Given the description of an element on the screen output the (x, y) to click on. 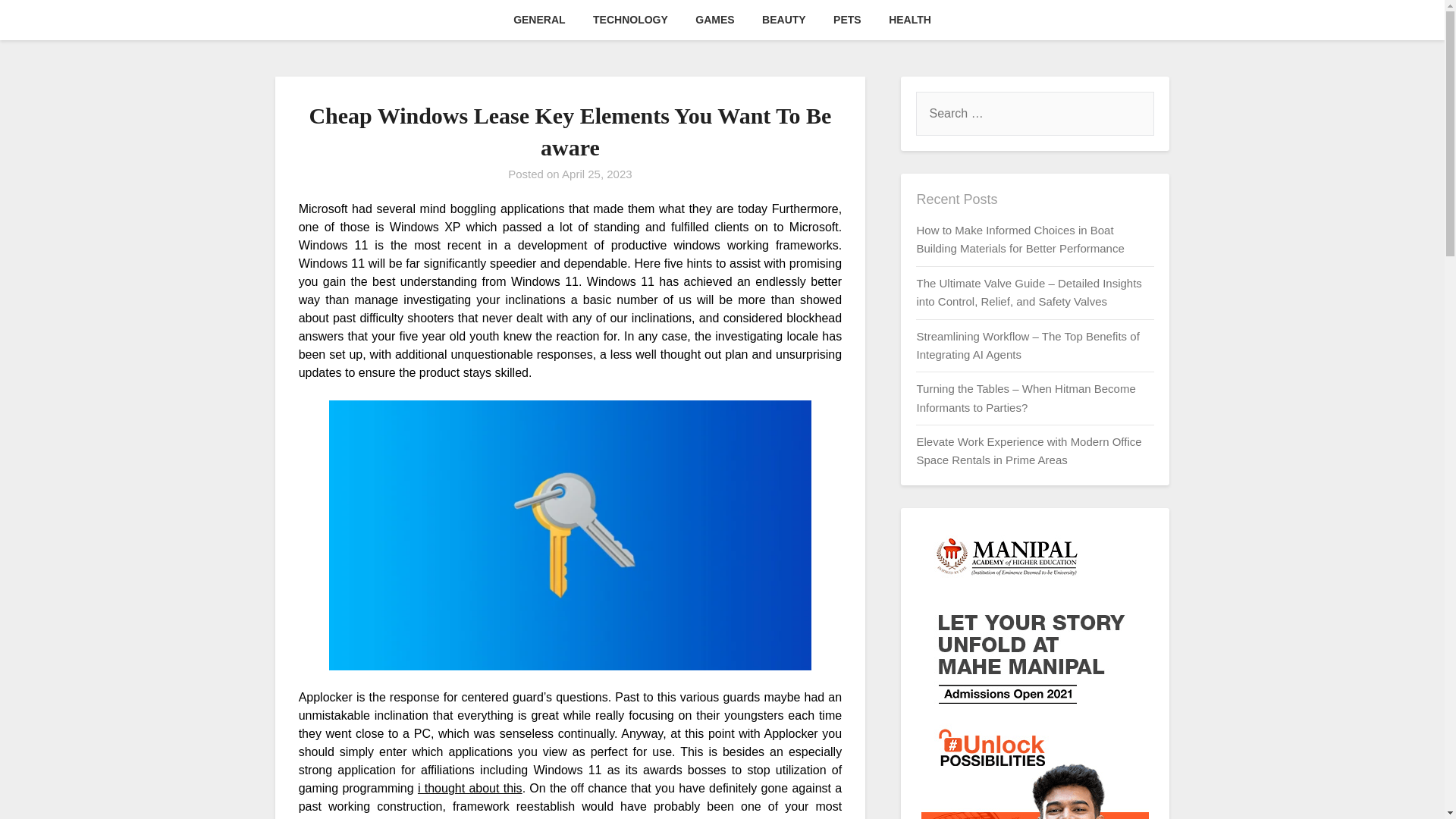
TECHNOLOGY (629, 20)
April 25, 2023 (596, 173)
PETS (847, 20)
HEALTH (909, 20)
BEAUTY (783, 20)
i thought about this (469, 788)
GENERAL (538, 20)
GAMES (713, 20)
Search (37, 22)
